Given the description of an element on the screen output the (x, y) to click on. 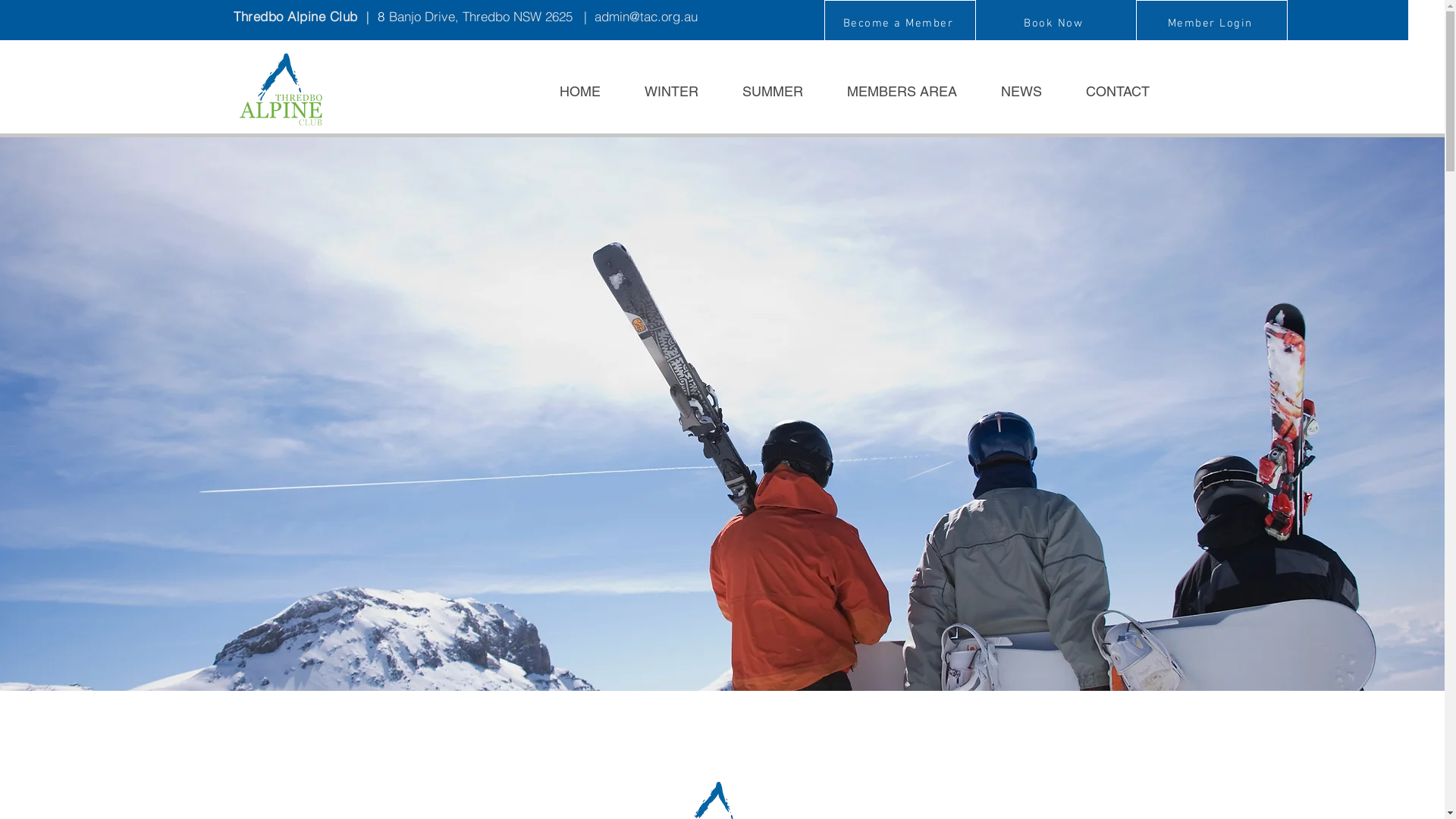
CONTACT Element type: text (1106, 91)
Book Now Element type: text (1054, 23)
Member Login Element type: text (1211, 23)
MEMBERS AREA Element type: text (891, 91)
WINTER Element type: text (660, 91)
Become a Member Element type: text (899, 23)
admin@tac.org.au Element type: text (645, 16)
SUMMER Element type: text (761, 91)
HOME Element type: text (568, 91)
NEWS Element type: text (1009, 91)
